Given the description of an element on the screen output the (x, y) to click on. 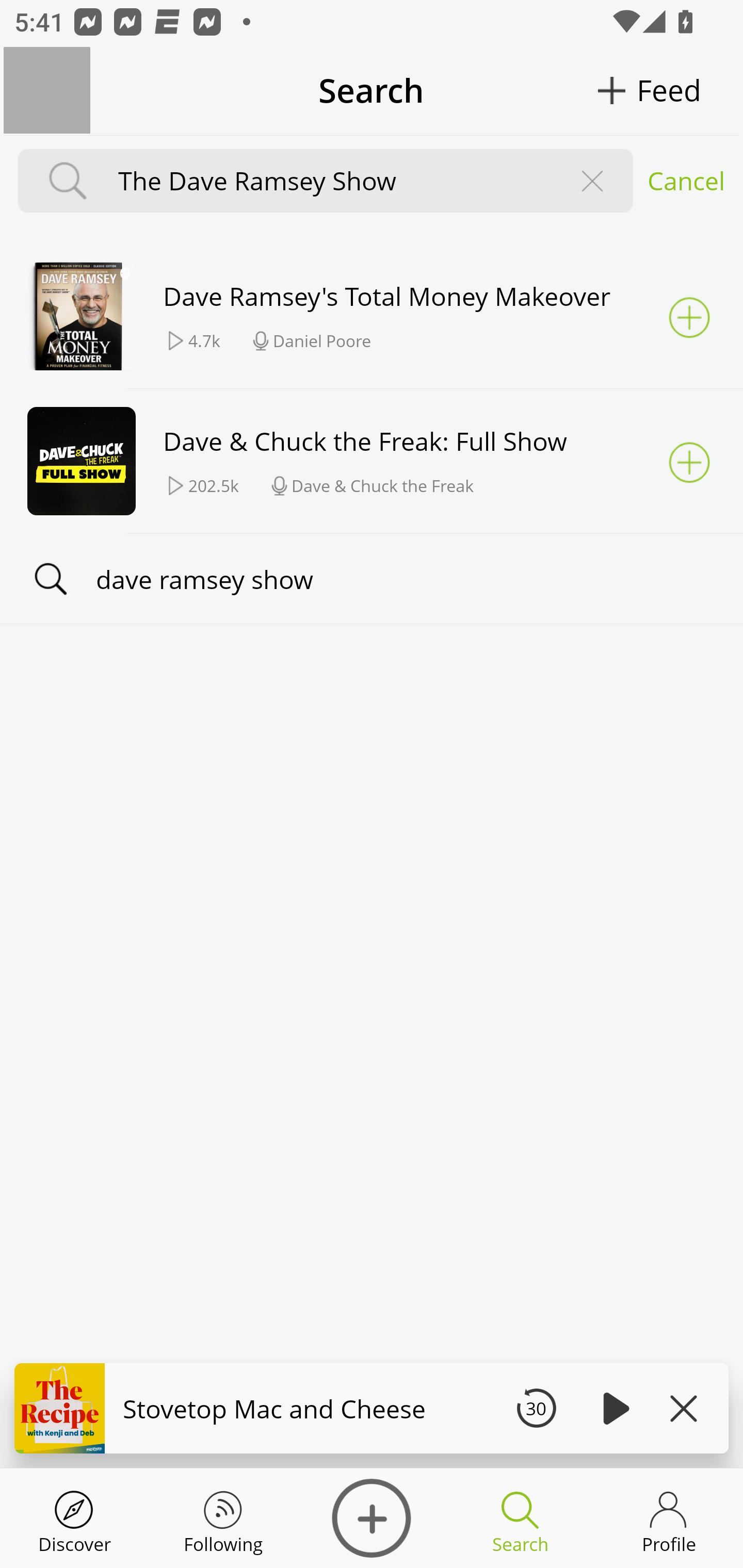
Back (46, 90)
Feed (668, 90)
Cancel (686, 180)
The Dave Ramsey Show (330, 180)
dave ramsey show (371, 578)
Play (613, 1407)
30 Seek Backward (536, 1407)
Discover (74, 1518)
Discover Following (222, 1518)
Discover (371, 1518)
Discover Profile (668, 1518)
